Given the description of an element on the screen output the (x, y) to click on. 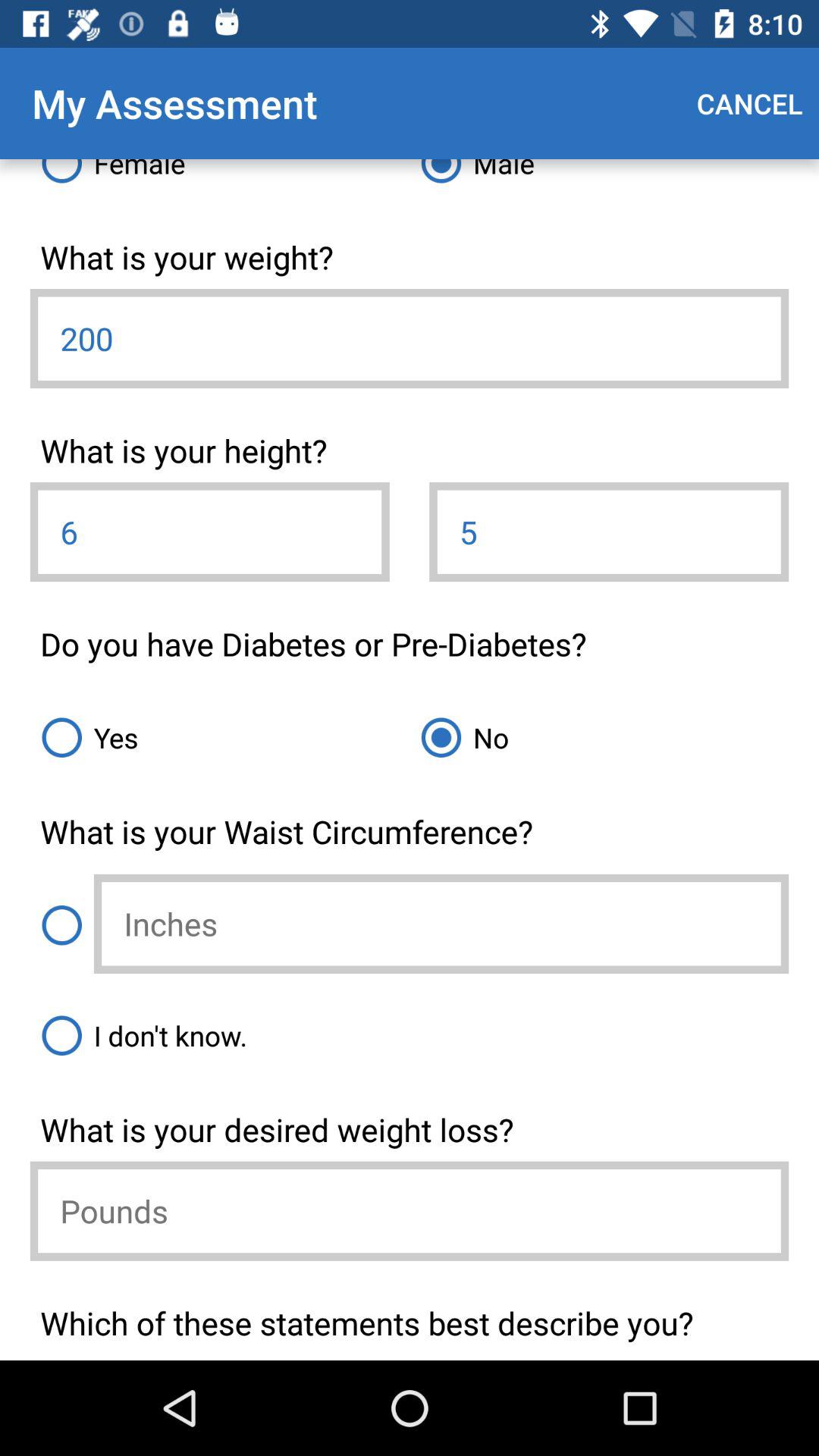
choose male (598, 177)
